Given the description of an element on the screen output the (x, y) to click on. 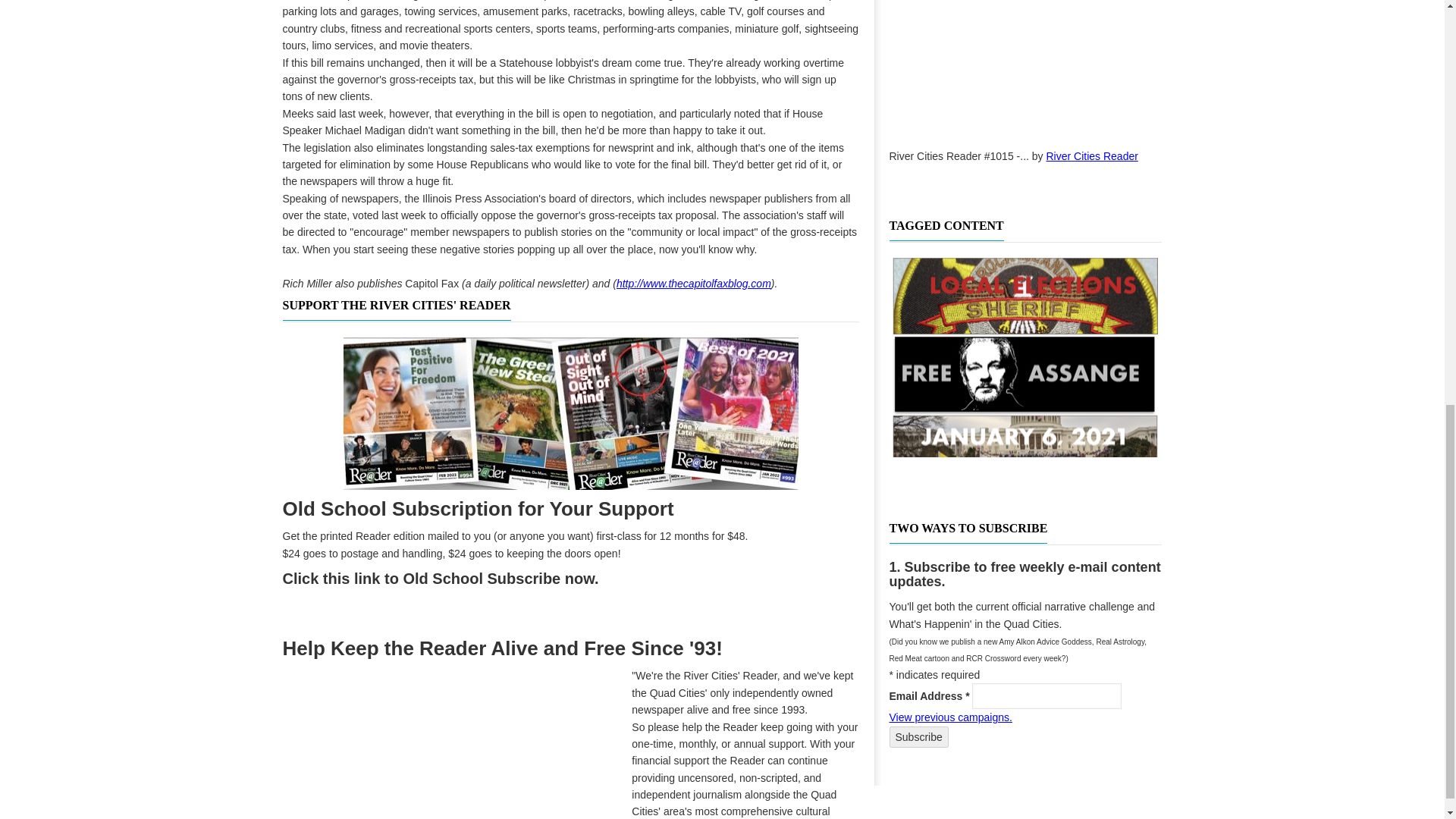
View previous campaigns (949, 717)
Subscribe (917, 736)
View River Cities Reader's profile on Scribd (1092, 155)
this link to Old School Subscribe now (458, 578)
